Given the description of an element on the screen output the (x, y) to click on. 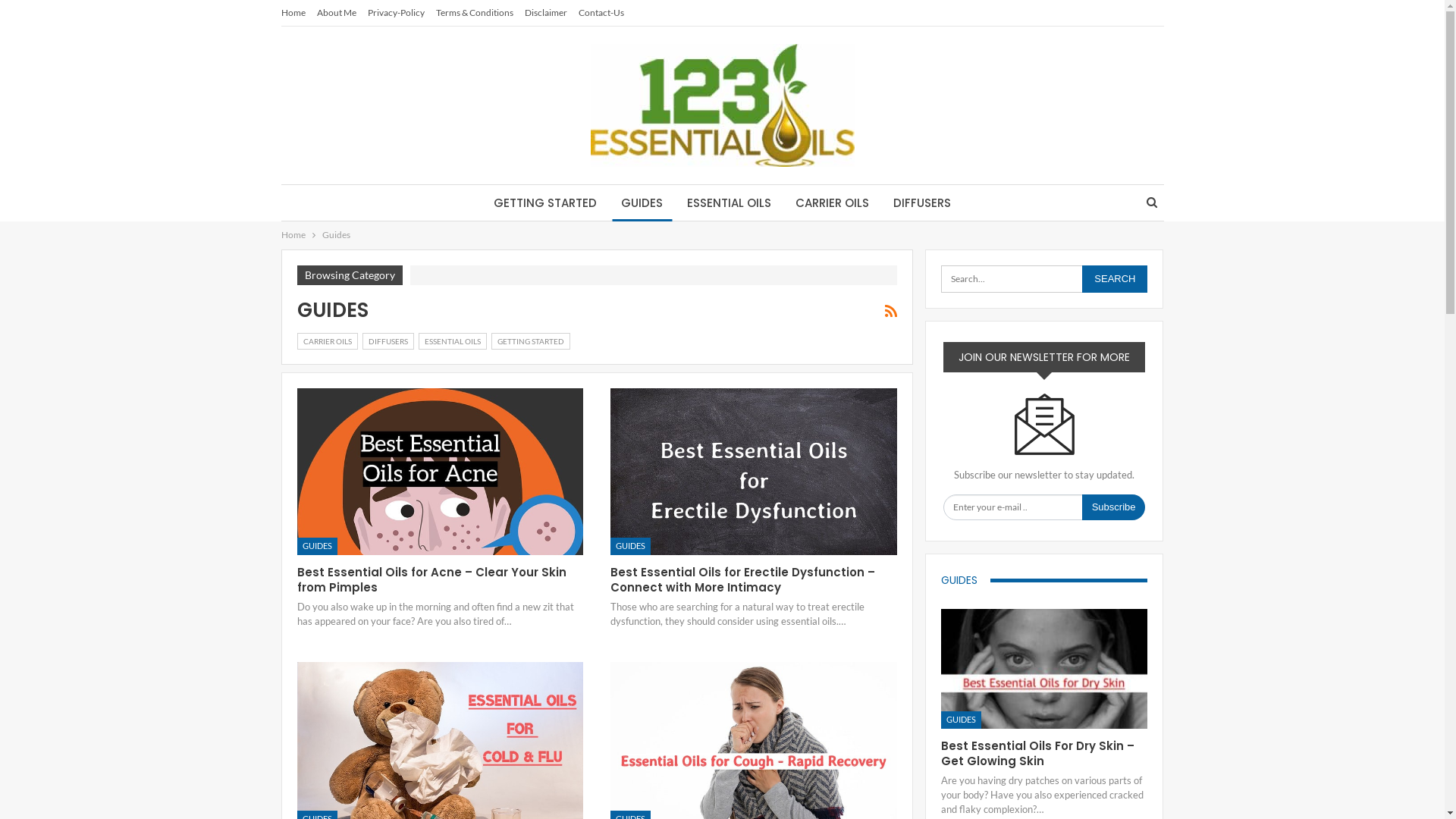
GUIDES Element type: text (317, 546)
GUIDES Element type: text (641, 203)
Home Element type: text (292, 234)
Terms & Conditions Element type: text (473, 12)
About Me Element type: text (336, 12)
GUIDES Element type: text (965, 578)
GUIDES Element type: text (630, 546)
ESSENTIAL OILS Element type: text (452, 340)
DIFFUSERS Element type: text (388, 340)
DIFFUSERS Element type: text (922, 203)
Contact-Us Element type: text (600, 12)
ESSENTIAL OILS Element type: text (728, 203)
CARRIER OILS Element type: text (832, 203)
Search for: Element type: hover (1044, 278)
GUIDES Element type: text (961, 719)
Home Element type: text (292, 12)
GETTING STARTED Element type: text (544, 203)
Subscribe Element type: text (1113, 507)
Privacy-Policy Element type: text (395, 12)
GETTING STARTED Element type: text (530, 340)
Search Element type: text (1114, 278)
CARRIER OILS Element type: text (327, 340)
Disclaimer Element type: text (545, 12)
